Given the description of an element on the screen output the (x, y) to click on. 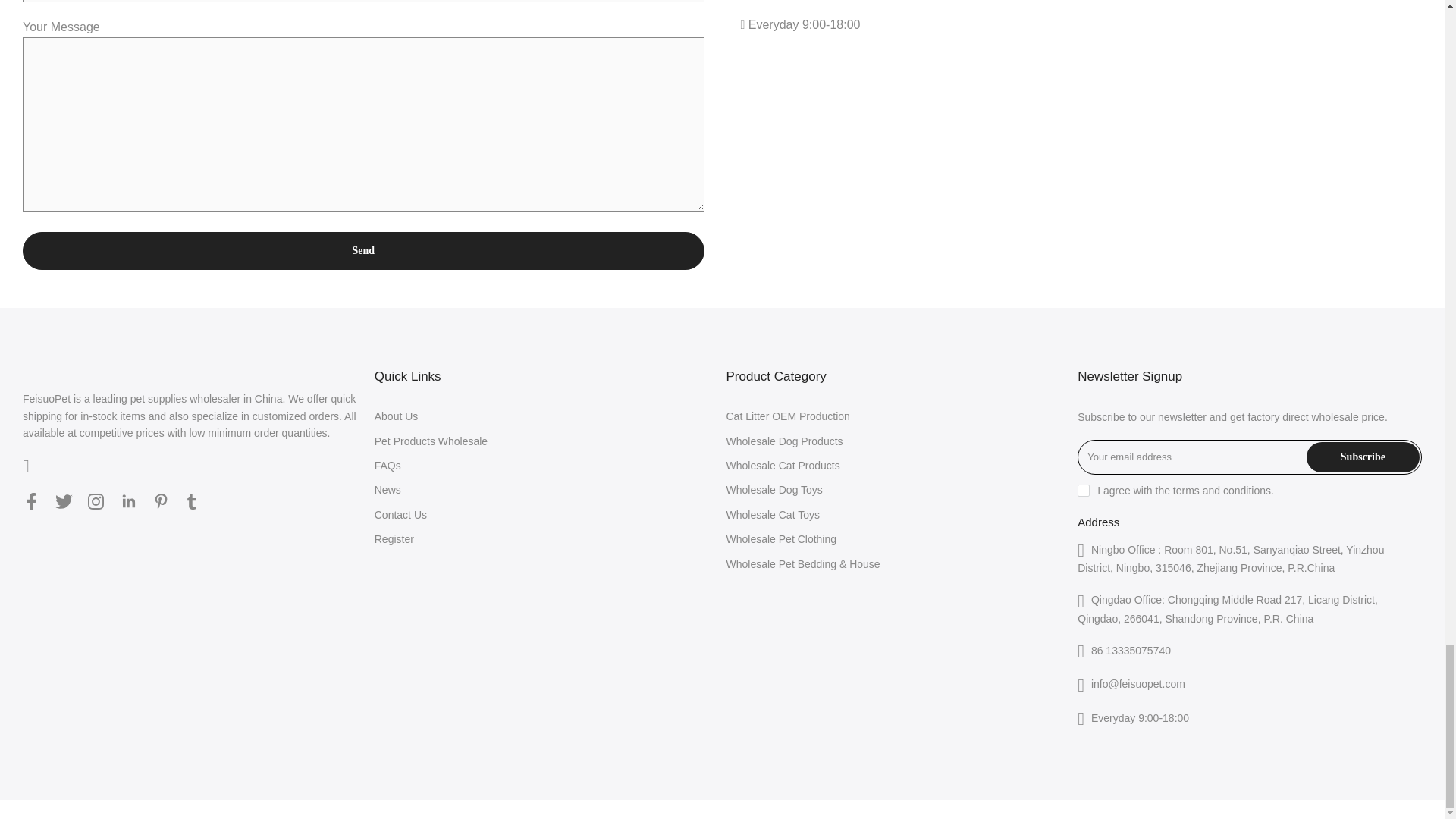
Send (363, 250)
